Given the description of an element on the screen output the (x, y) to click on. 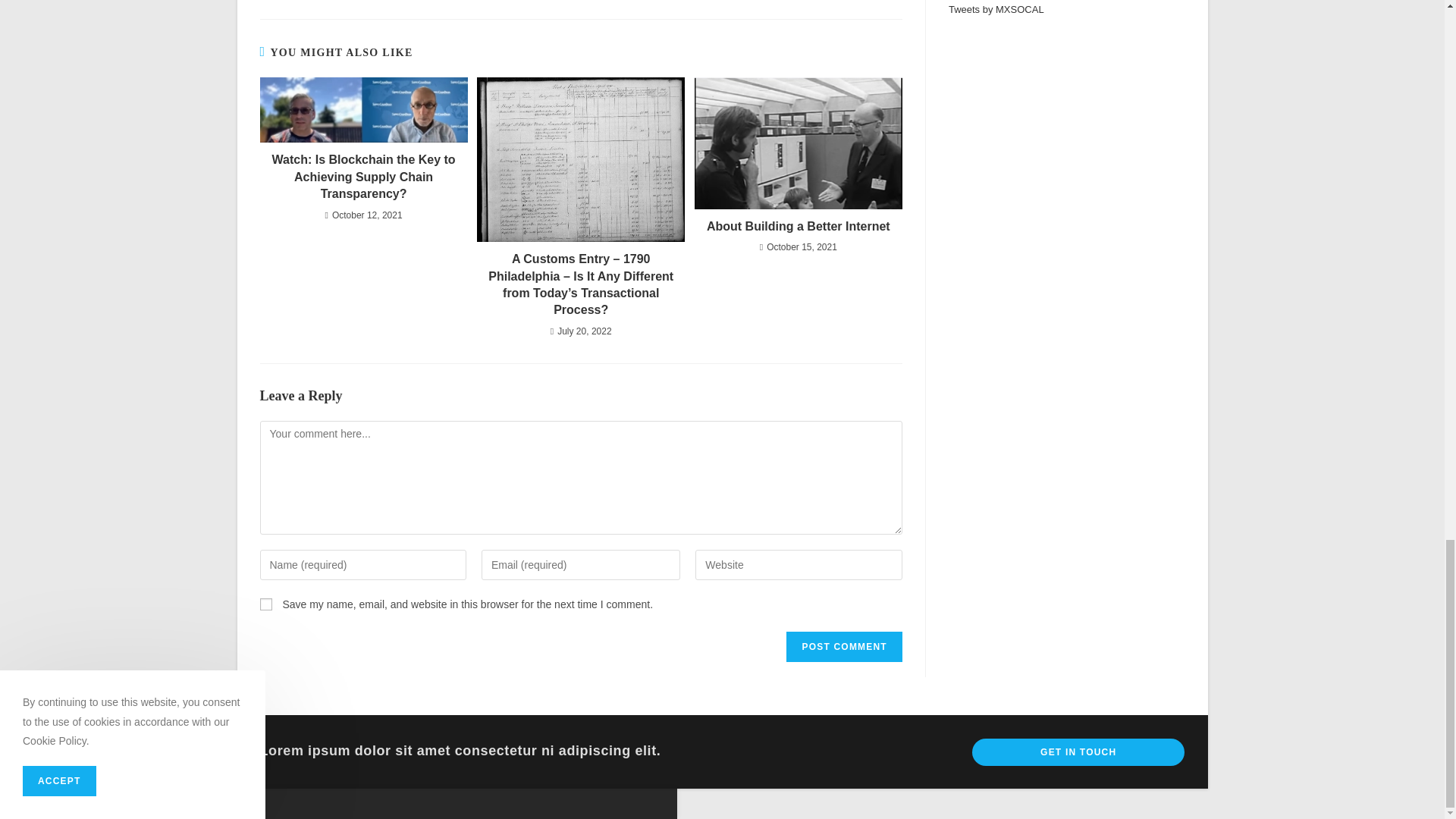
yes (264, 604)
Post Comment (843, 646)
